Given the description of an element on the screen output the (x, y) to click on. 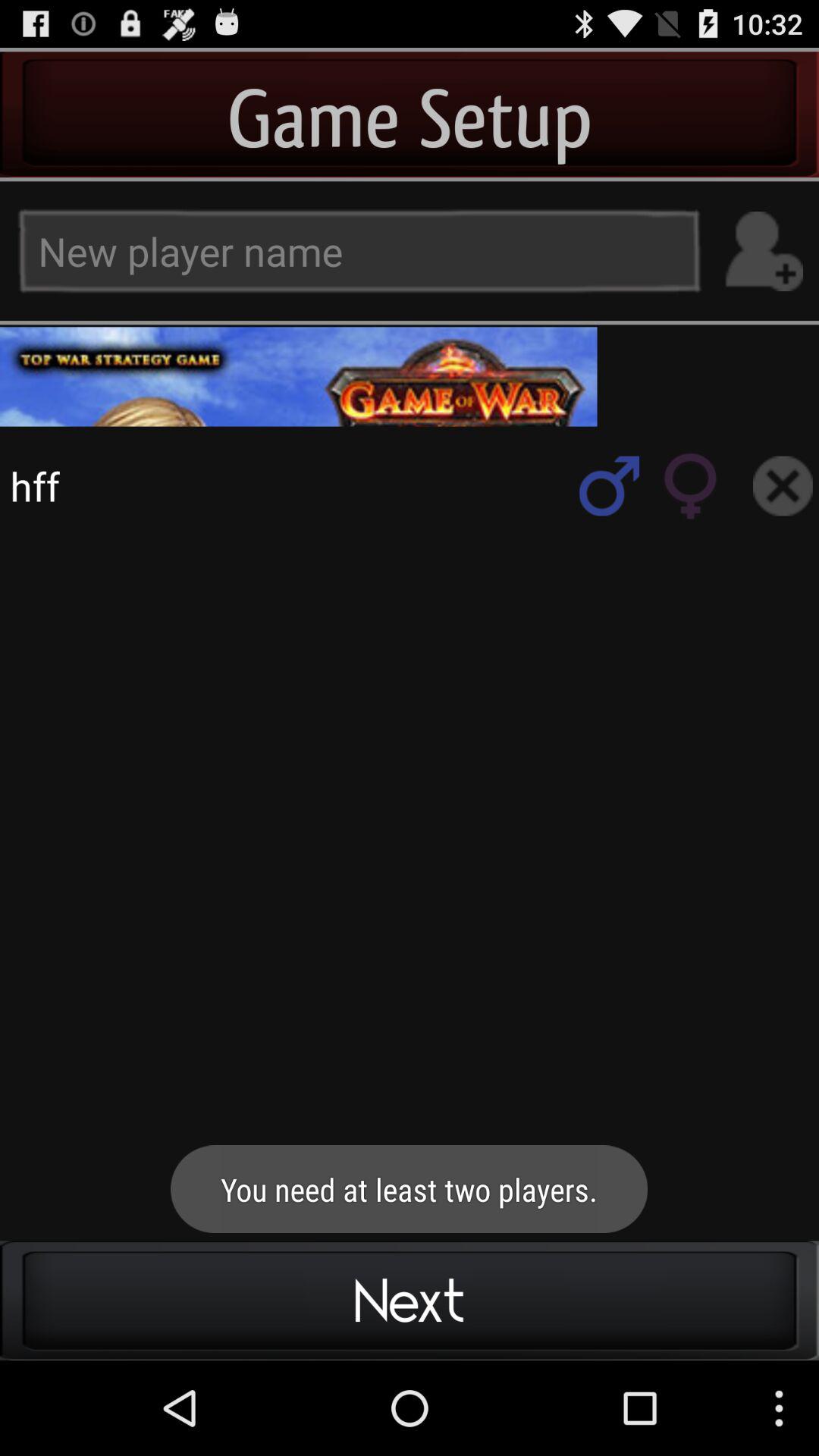
choose male (609, 485)
